Given the description of an element on the screen output the (x, y) to click on. 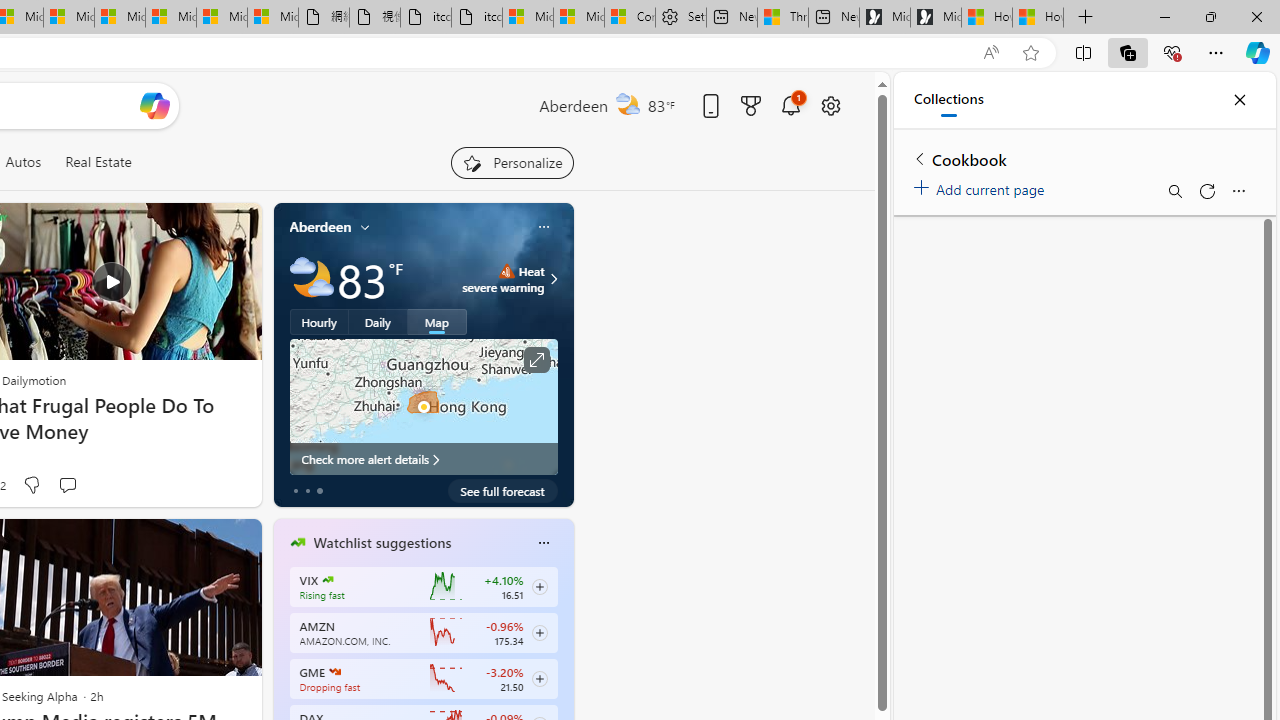
tab-2 (319, 490)
See full forecast (502, 490)
Hide this story (201, 542)
tab-0 (295, 490)
